Given the description of an element on the screen output the (x, y) to click on. 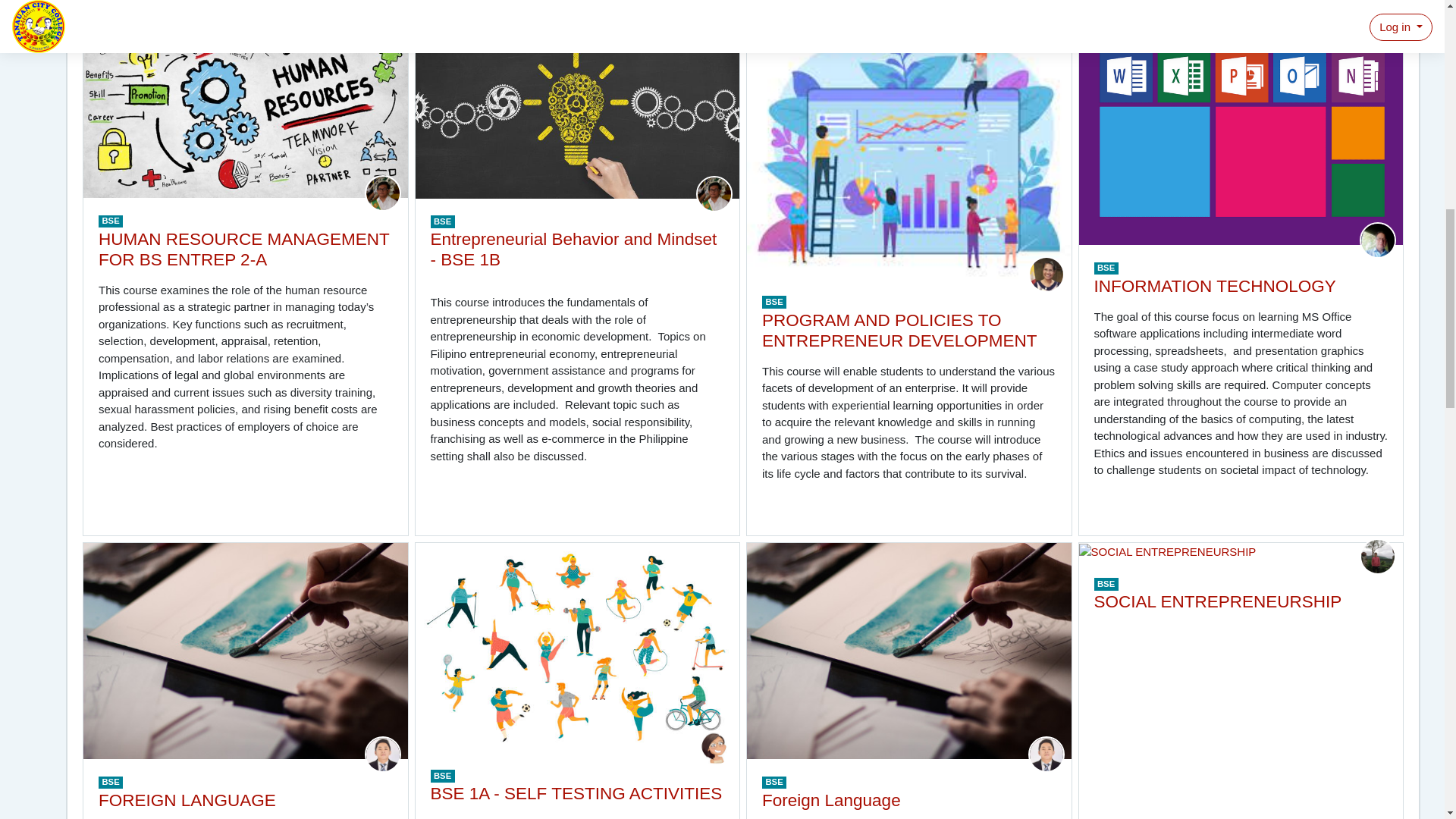
Andrew Trinidad (1377, 554)
Bernard Gonzales (1377, 238)
Katryn Ferl Bersuto (713, 747)
Susan Velasco (1045, 273)
Dante Jr Sebastian (382, 192)
Jan Jesster L. Carpio (1045, 753)
Dante Jr Sebastian (713, 192)
Jan Jesster L. Carpio (382, 753)
